Given the description of an element on the screen output the (x, y) to click on. 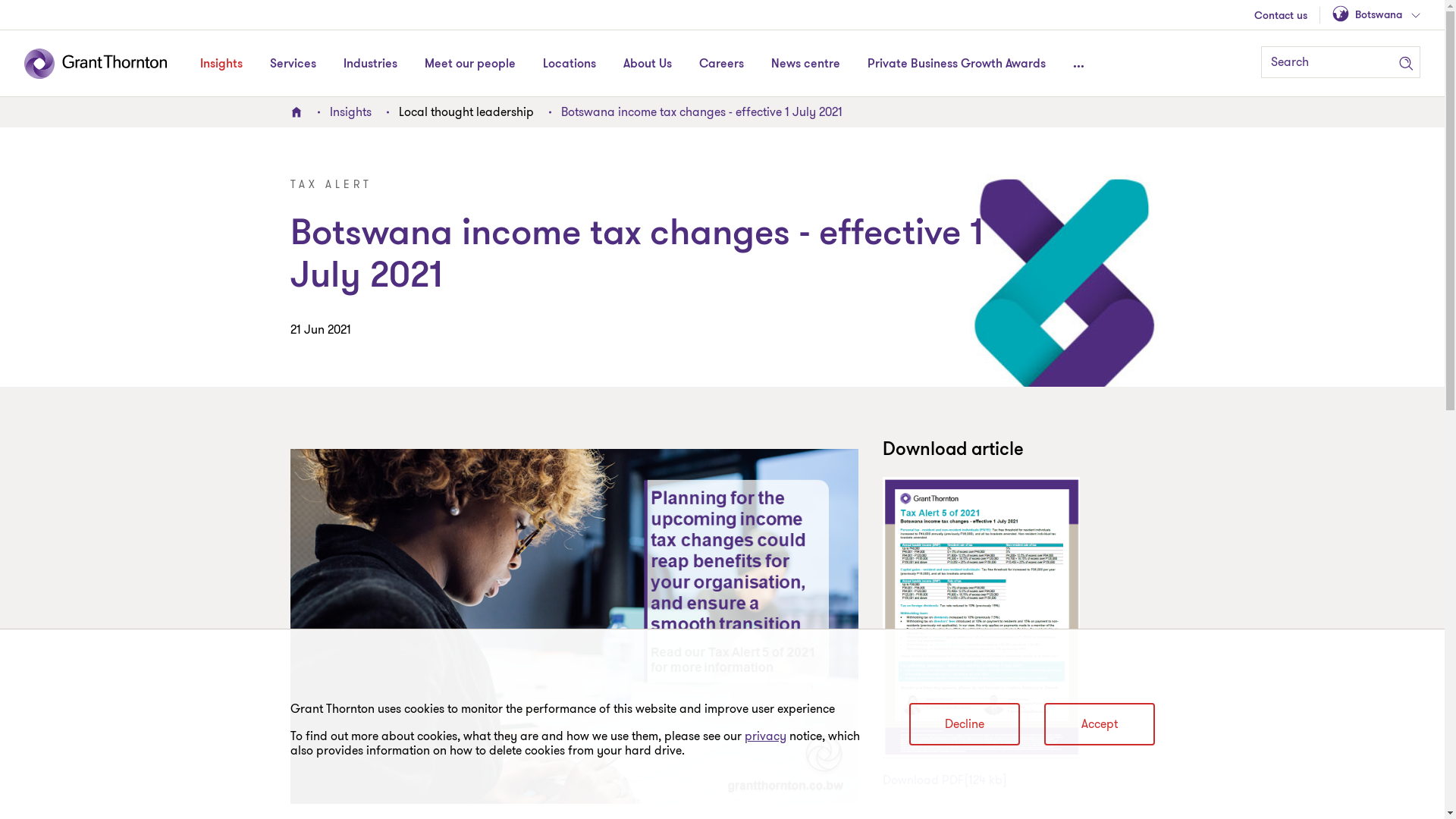
Industries Element type: text (370, 63)
Contact us Element type: text (1280, 16)
News centre Element type: text (805, 63)
... Element type: text (1078, 63)
Services Element type: text (292, 63)
Private Business Growth Awards Element type: text (956, 63)
Meet our people Element type: text (469, 63)
About Us Element type: text (647, 63)
Home Element type: hover (295, 112)
logo Element type: hover (106, 63)
Botswana income tax changes - effective 1 July 2021 Element type: text (701, 112)
Insights Element type: text (221, 63)
privacy Element type: text (765, 736)
Careers Element type: text (721, 63)
Insights Element type: text (349, 112)
Locations Element type: text (569, 63)
Decline Element type: text (963, 723)
Botswana Element type: text (1376, 14)
Download PDF
[124 kb] Element type: text (950, 779)
Accept Element type: text (1098, 723)
